Given the description of an element on the screen output the (x, y) to click on. 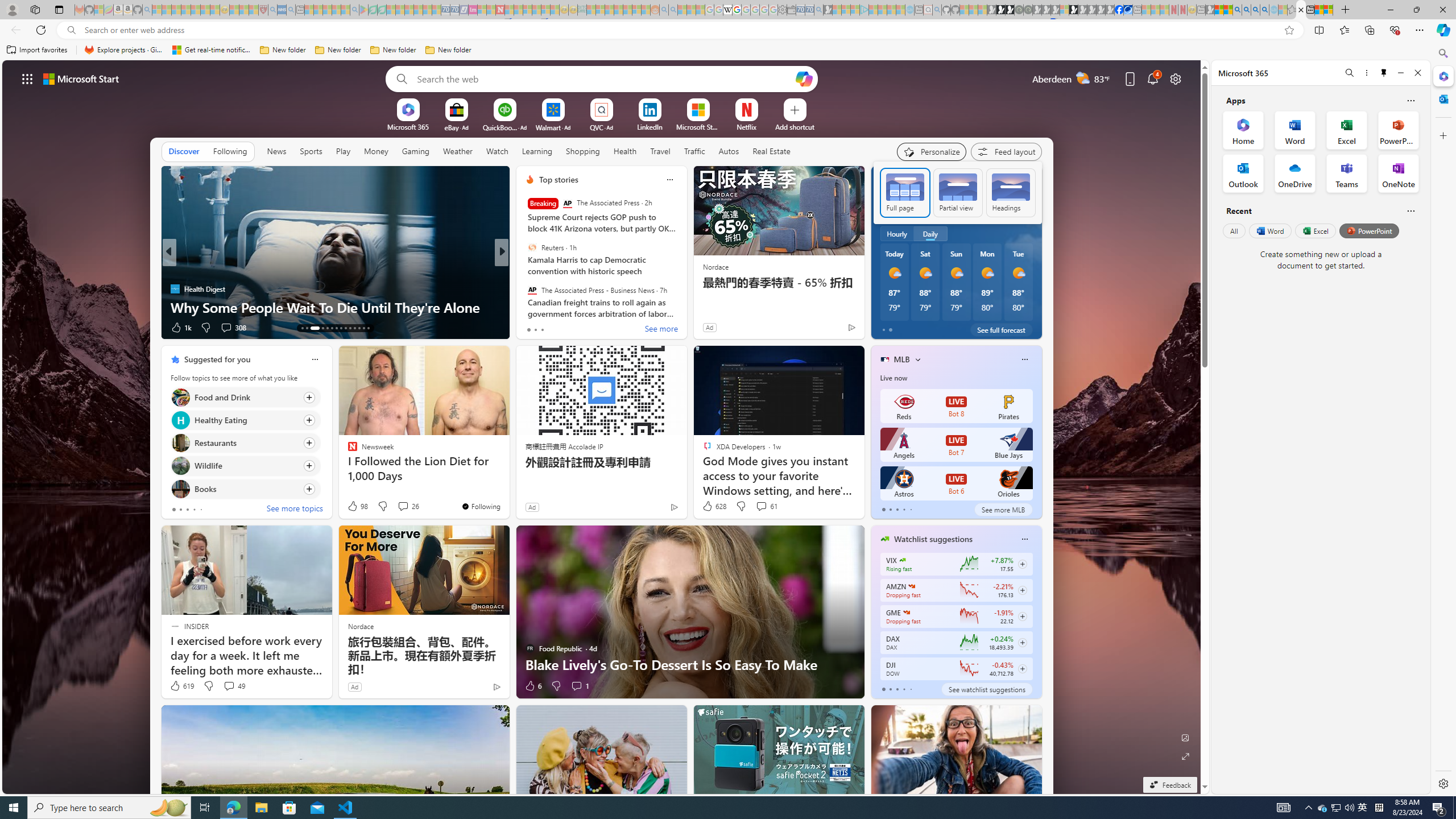
View comments 26 Comment (403, 505)
Edit Background (1185, 737)
Cheap Hotels - Save70.com - Sleeping (454, 9)
659 Like (532, 327)
Teams Office App (1346, 172)
Click to follow topic Healthy Eating (245, 419)
The Associated Press (567, 203)
OneDrive Office App (1295, 172)
Bing AI - Search (1236, 9)
PowerPoint (1369, 230)
